Given the description of an element on the screen output the (x, y) to click on. 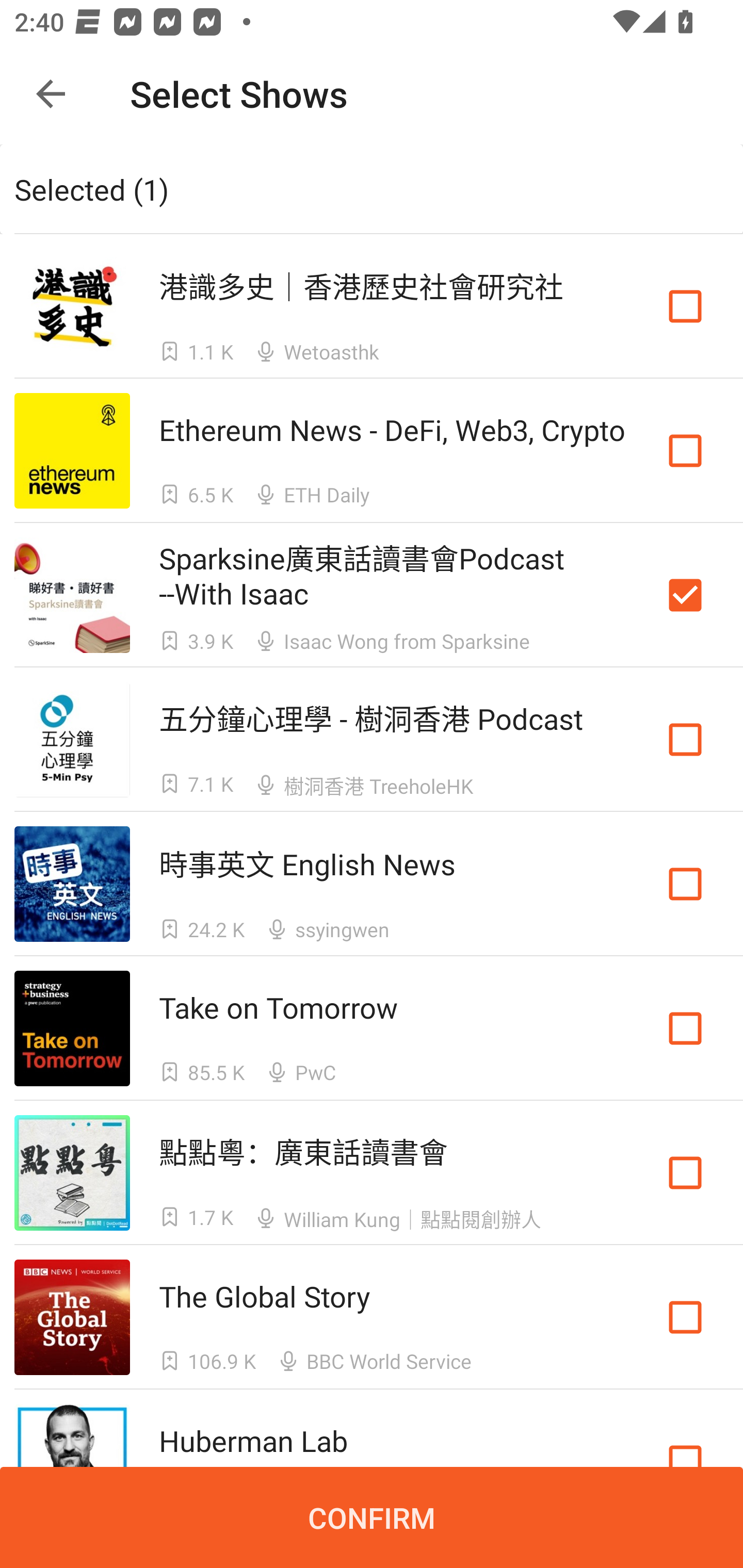
Navigate up (50, 93)
港識多史｜香港歷史社會研究社 港識多史｜香港歷史社會研究社  1.1 K  Wetoasthk (371, 305)
Take on Tomorrow Take on Tomorrow  85.5 K  PwC (371, 1028)
CONFIRM (371, 1517)
